Given the description of an element on the screen output the (x, y) to click on. 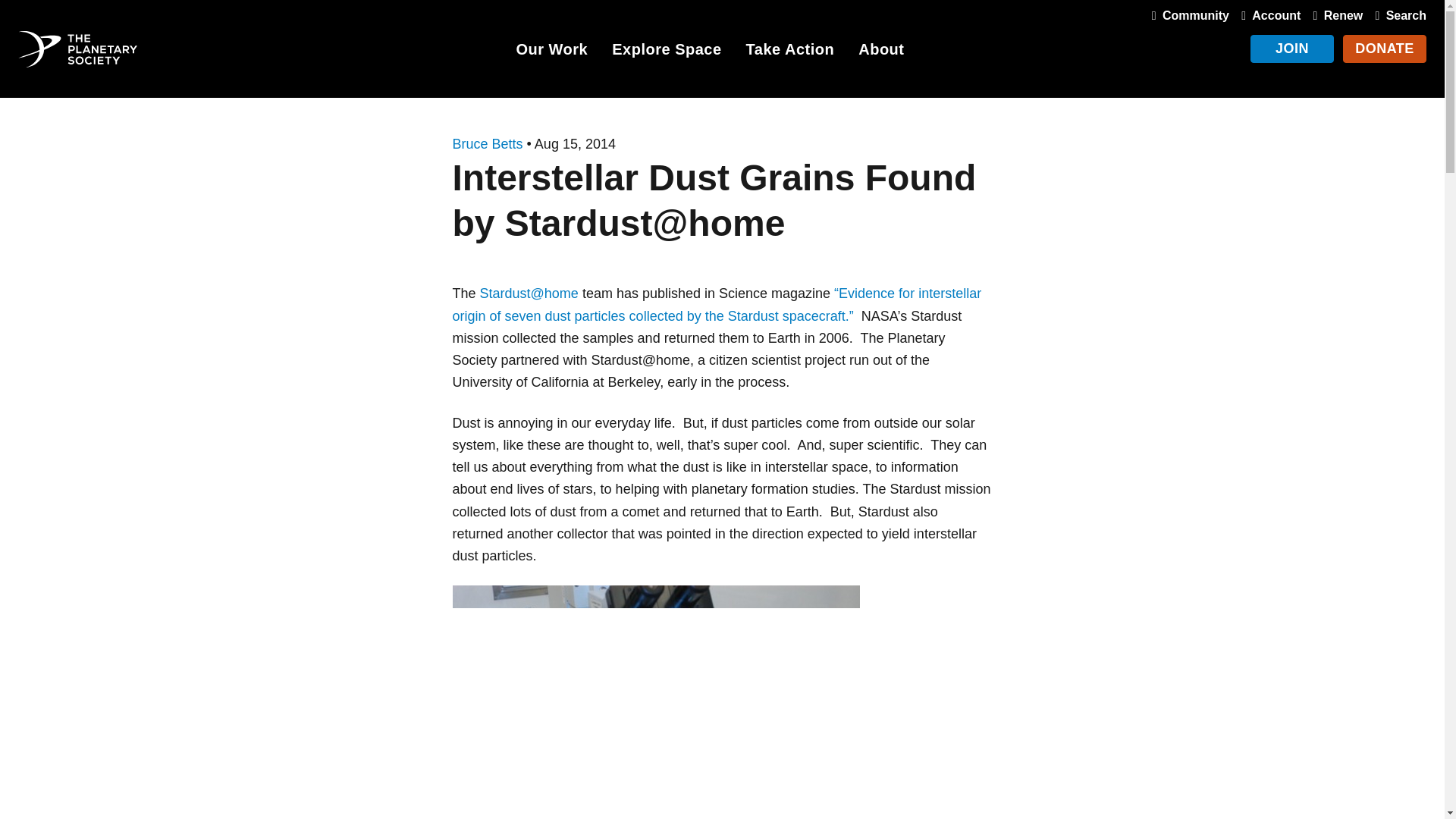
Account (1267, 15)
Community (1186, 15)
Explore Space (665, 51)
About (881, 51)
Search (1397, 15)
Renew (1334, 15)
DONATE (1384, 49)
JOIN (1291, 49)
Our Work (551, 51)
Take Action (789, 51)
